Given the description of an element on the screen output the (x, y) to click on. 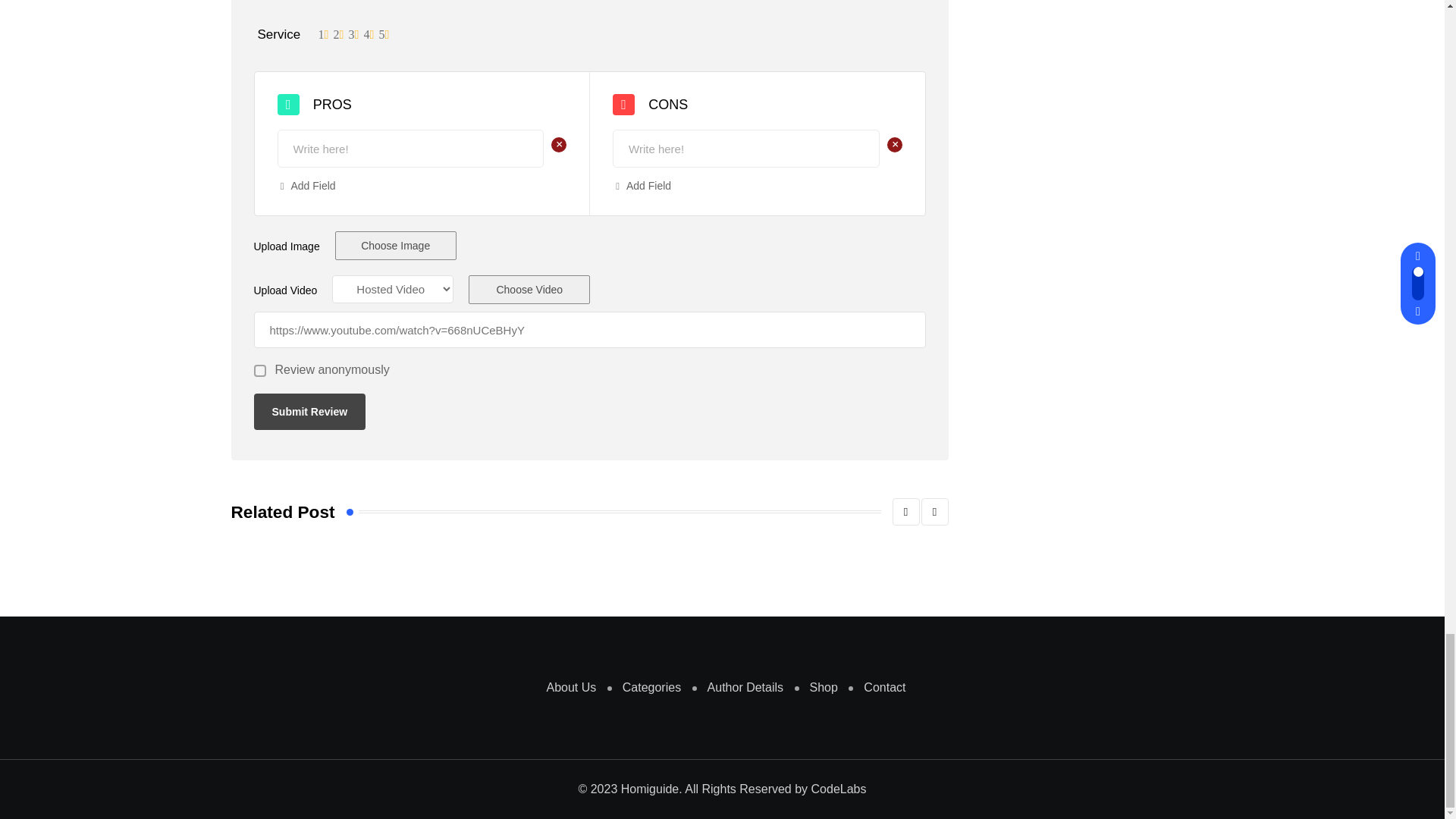
Submit Review (309, 411)
